Given the description of an element on the screen output the (x, y) to click on. 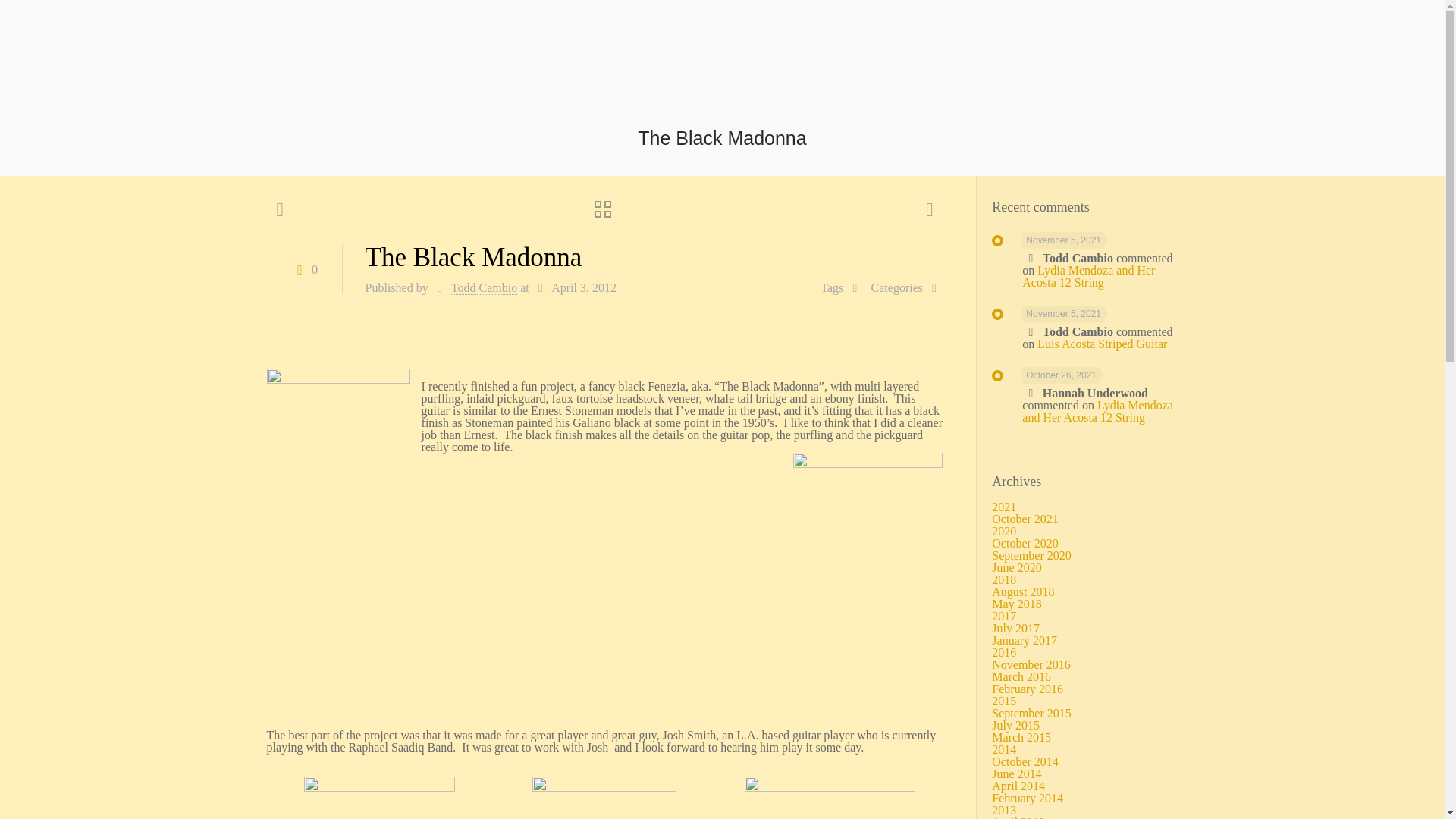
Todd Cambio (483, 287)
0 (303, 269)
